Given the description of an element on the screen output the (x, y) to click on. 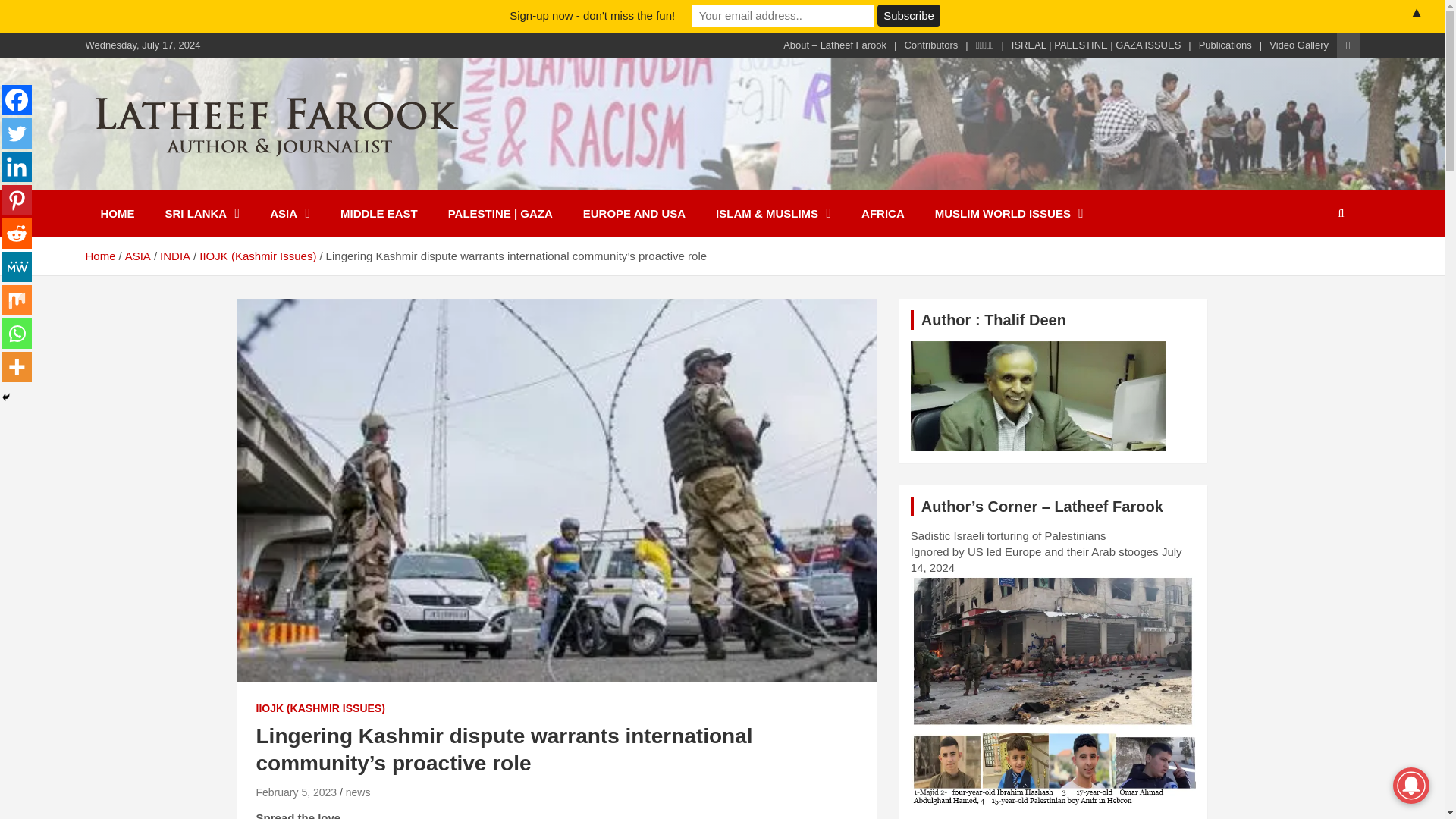
MIDDLE EAST (378, 213)
HOME (116, 213)
SRI LANKA (202, 213)
ASIA (289, 213)
Video Gallery (1298, 45)
Facebook (16, 100)
Contributors (931, 45)
Latheef Farook (193, 179)
Publications (1225, 45)
EUROPE AND USA (633, 213)
Twitter (16, 132)
Subscribe (908, 15)
